Given the description of an element on the screen output the (x, y) to click on. 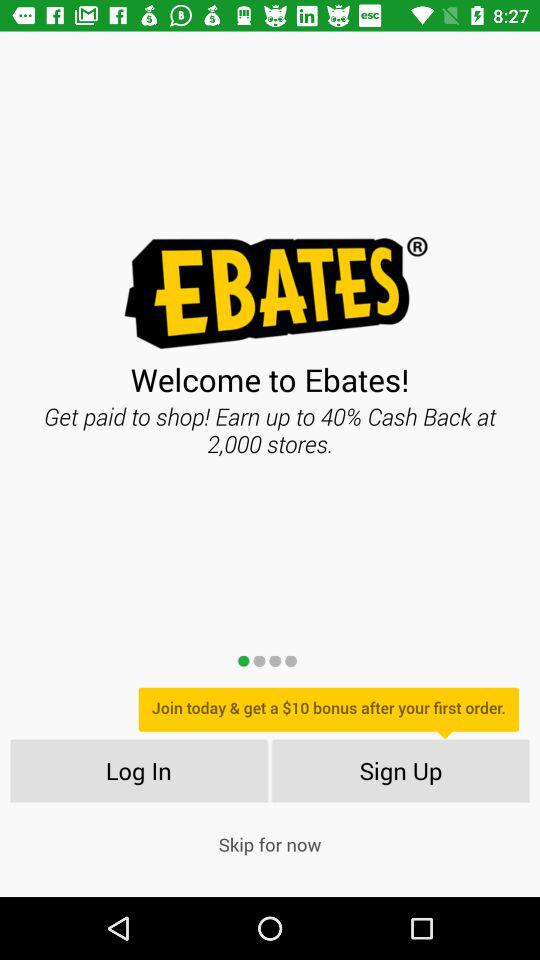
swipe to skip for now (269, 844)
